Given the description of an element on the screen output the (x, y) to click on. 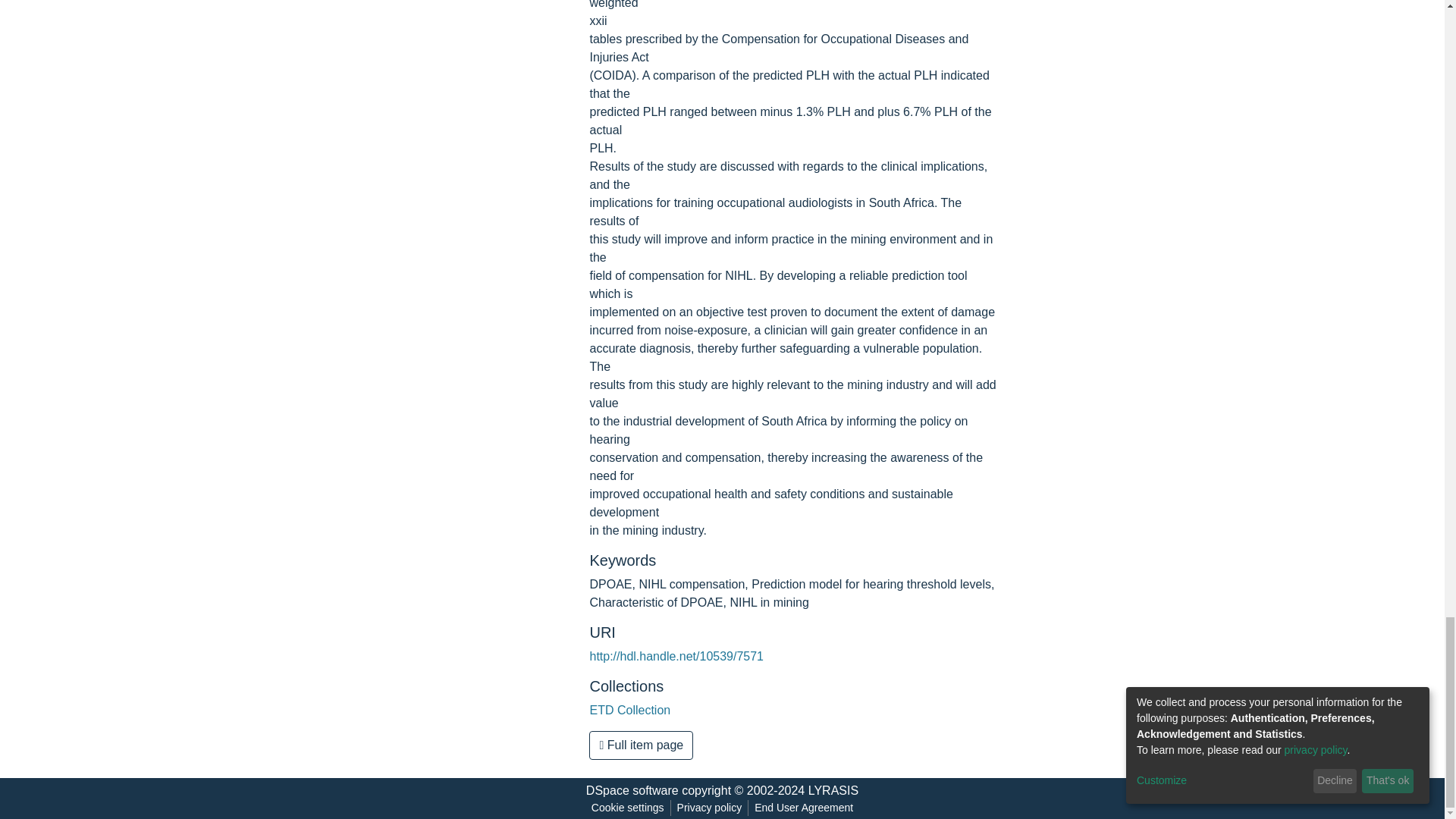
Cookie settings (627, 807)
ETD Collection (629, 709)
Privacy policy (709, 807)
DSpace software (632, 789)
End User Agreement (803, 807)
Full item page (641, 745)
LYRASIS (833, 789)
